Given the description of an element on the screen output the (x, y) to click on. 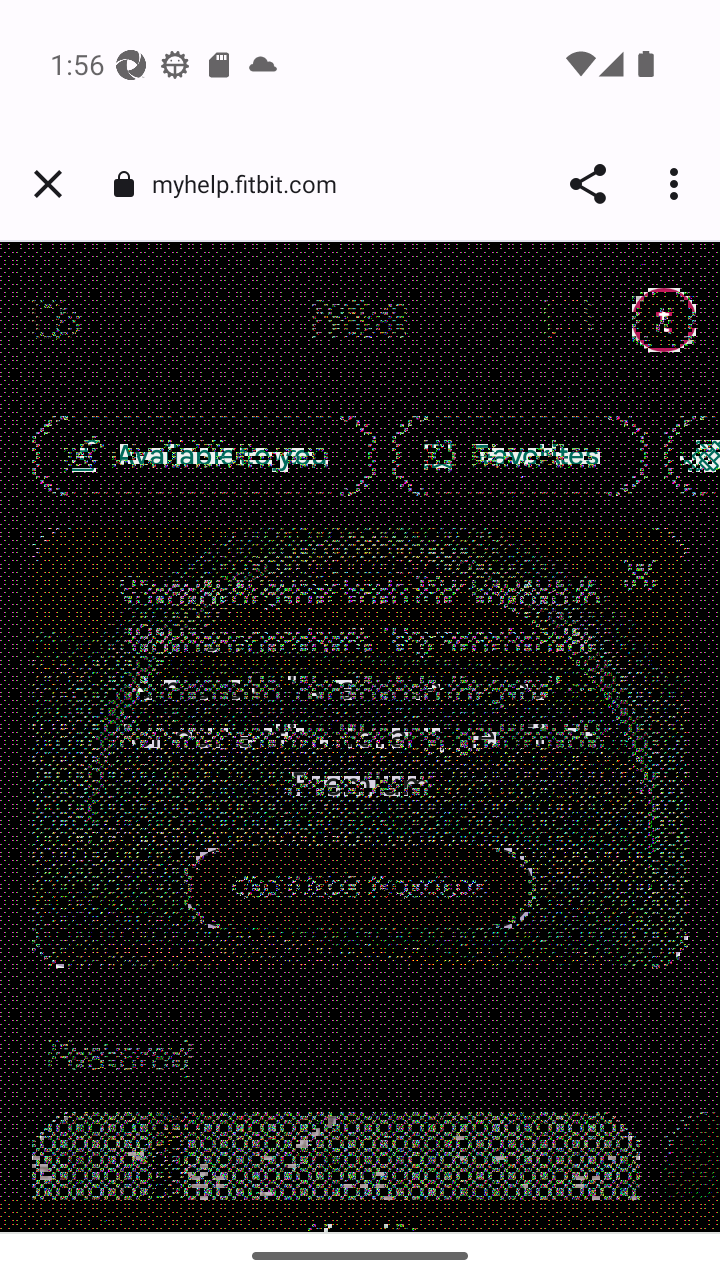
Close tab (47, 184)
Share (587, 184)
More options (677, 184)
Connection is secure (123, 183)
myhelp.fitbit.com (251, 182)
